Given the description of an element on the screen output the (x, y) to click on. 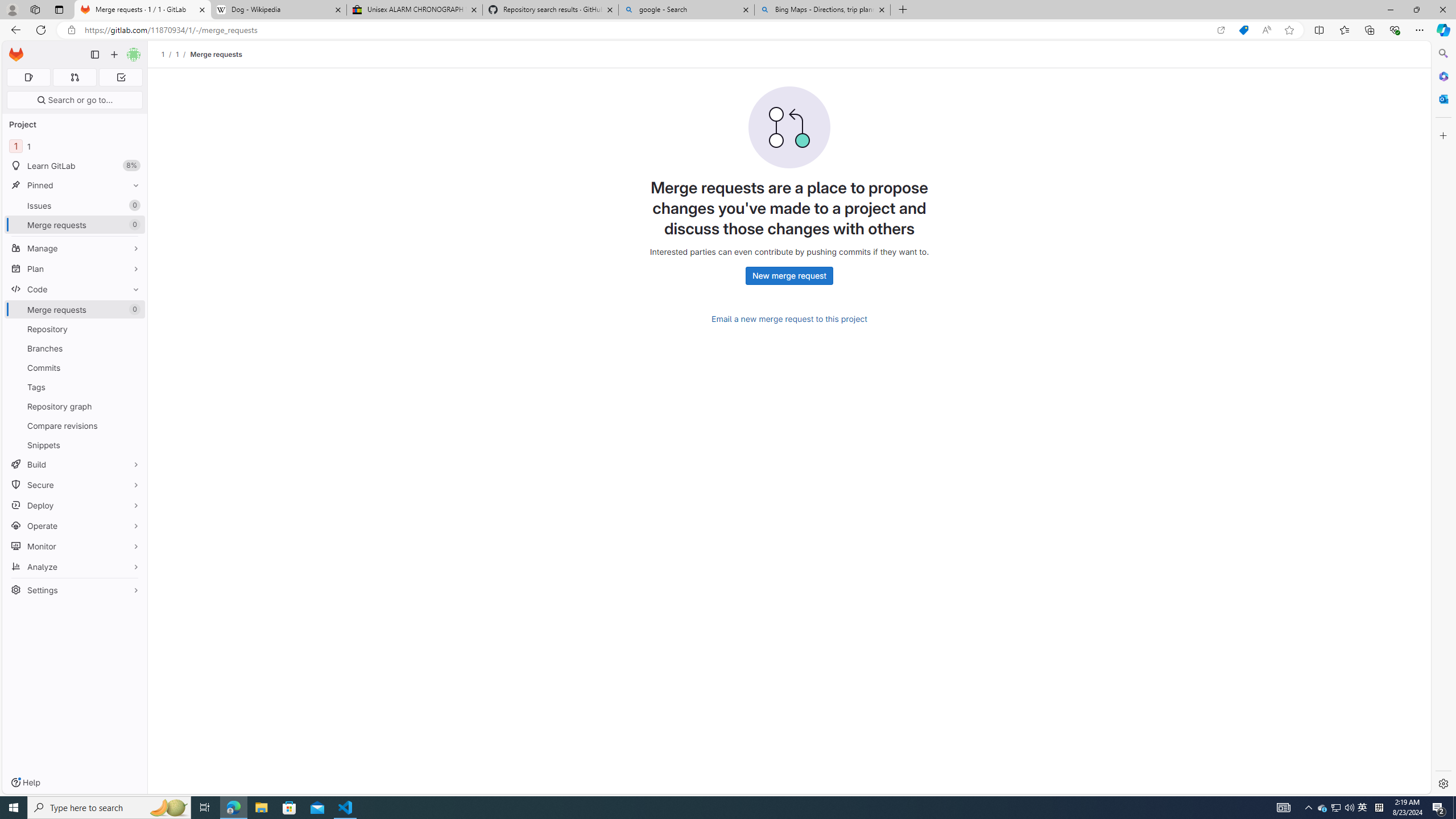
Monitor (74, 546)
Pin Snippets (132, 445)
Plan (74, 268)
Tags (74, 386)
Code (74, 289)
Outlook (1442, 98)
Compare revisions (74, 425)
Assigned issues 0 (28, 76)
Unpin Merge requests (132, 309)
